Given the description of an element on the screen output the (x, y) to click on. 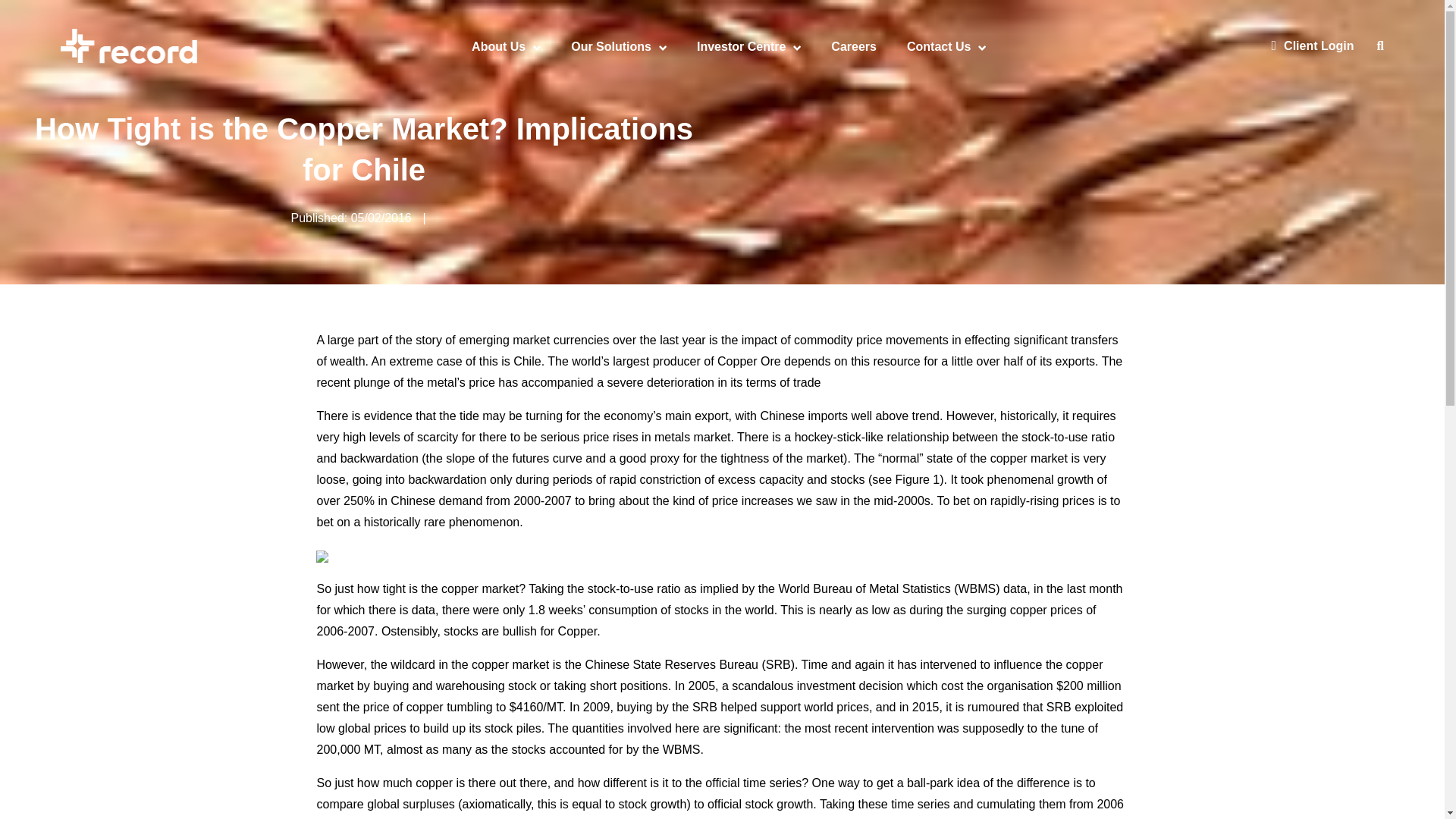
Client Login (1312, 45)
Careers (853, 46)
Our Solutions (610, 46)
Investor Centre (741, 46)
About Us (498, 46)
Contact Us (939, 46)
